Given the description of an element on the screen output the (x, y) to click on. 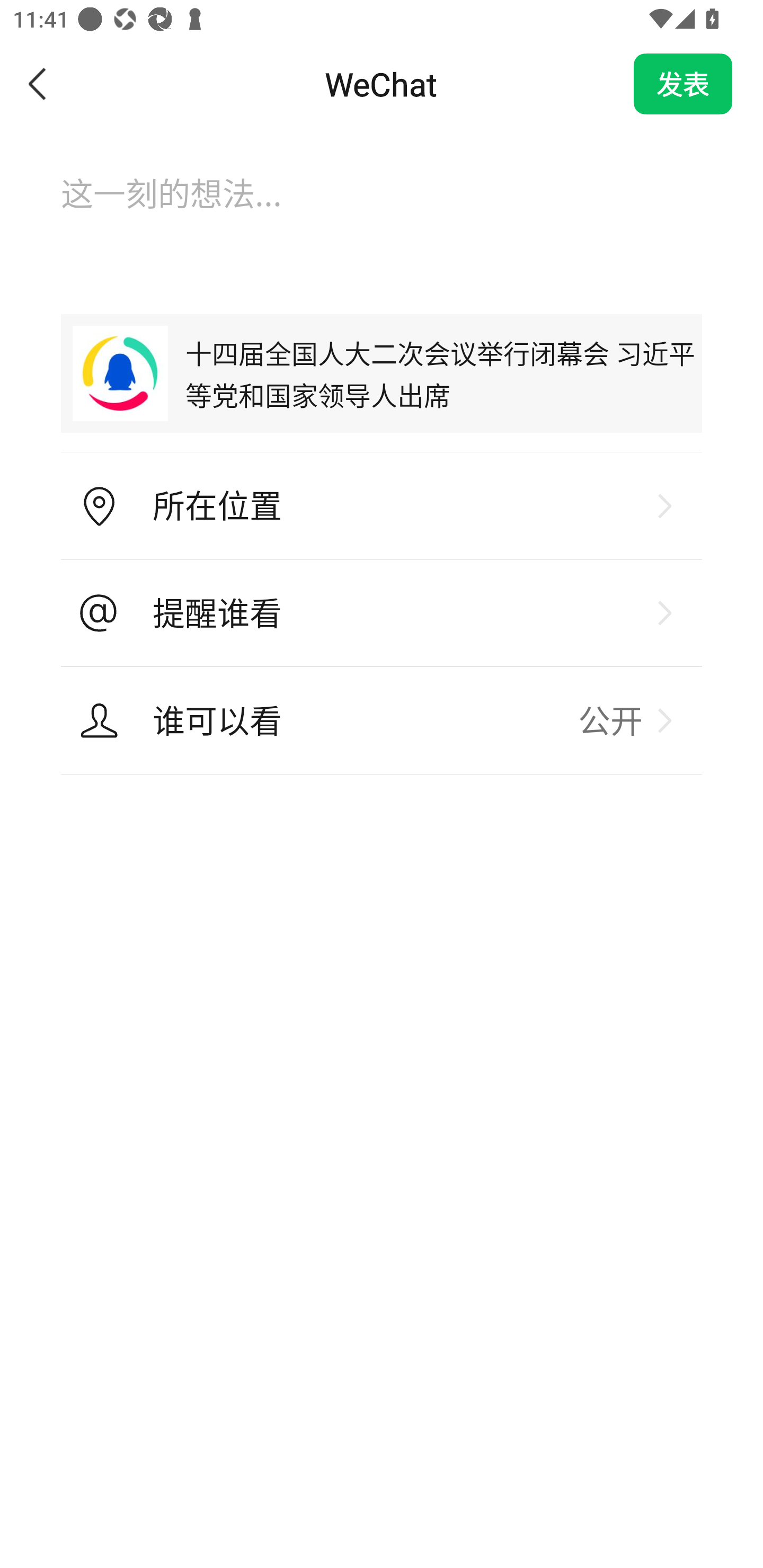
返回 (38, 83)
发表 (683, 83)
这一刻的想法... (381, 211)
十四届全国人大二次会议举行闭幕会 习近平等党和国家领导人出席 (381, 372)
所在位置 (381, 506)
提醒谁看  提醒谁看 (381, 612)
谁可以看 公开 (381, 720)
